Given the description of an element on the screen output the (x, y) to click on. 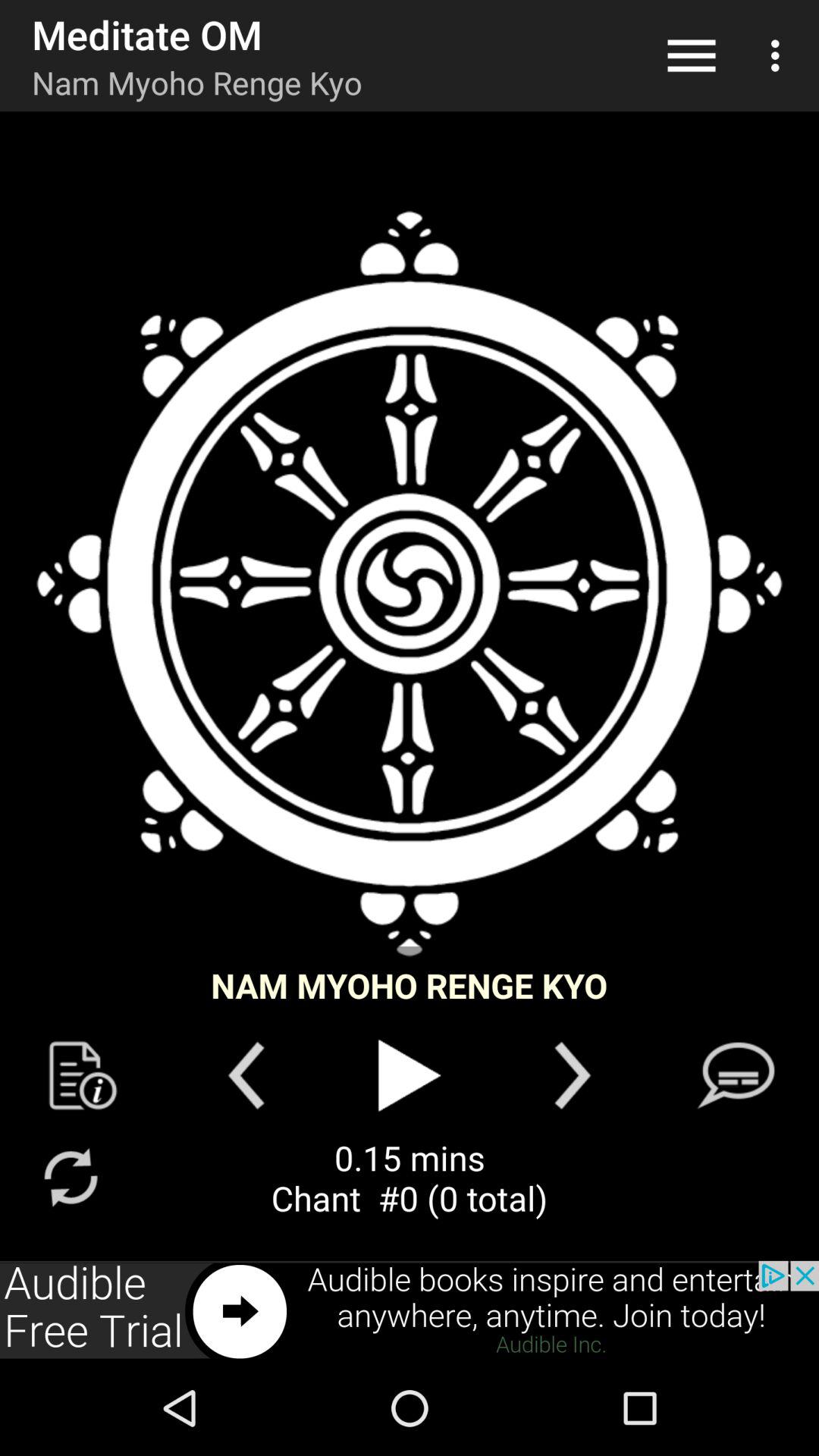
reload page (69, 1177)
